Given the description of an element on the screen output the (x, y) to click on. 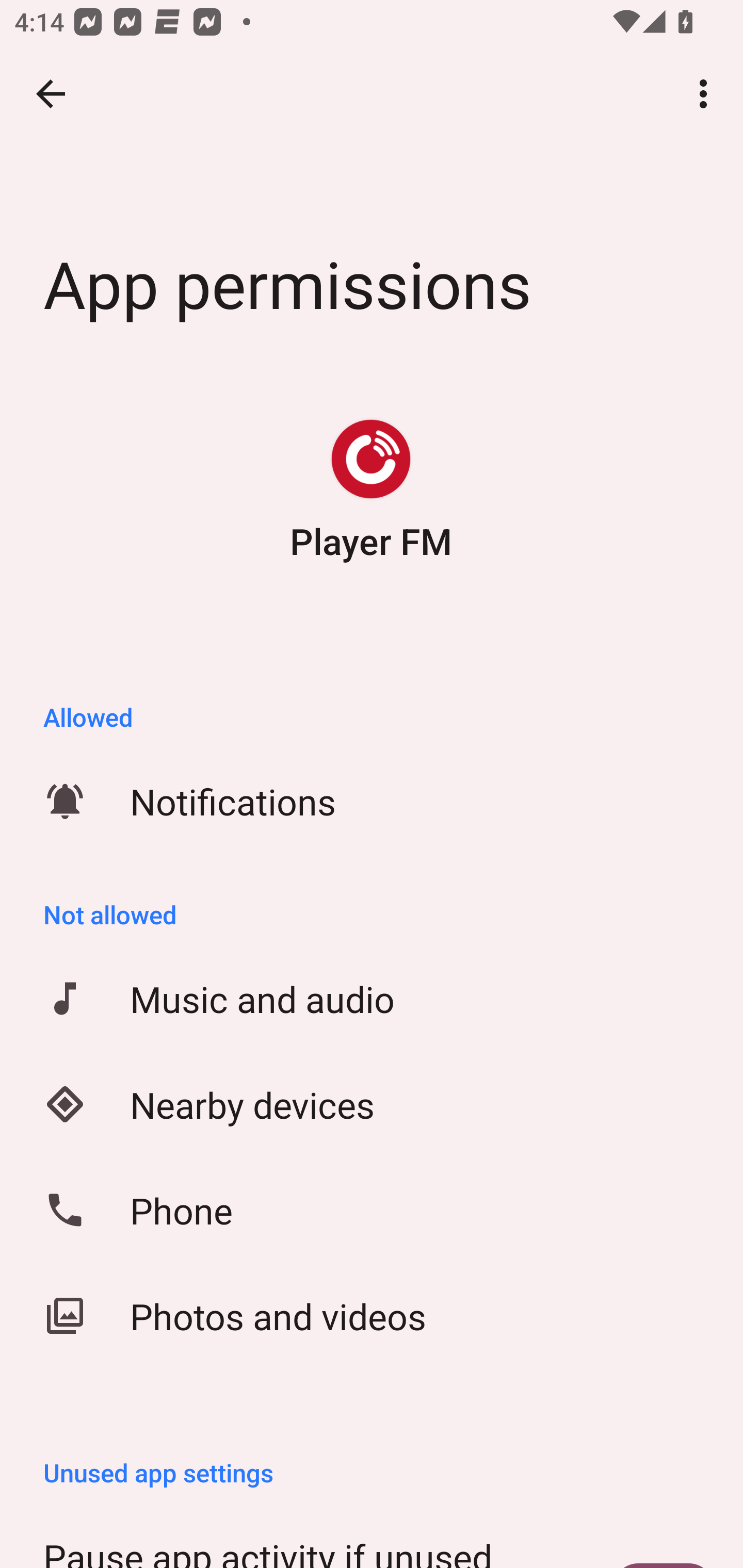
Back (50, 93)
More options (706, 93)
Notifications (371, 800)
Music and audio (371, 998)
Nearby devices (371, 1104)
Phone (371, 1210)
Photos and videos (371, 1315)
